Given the description of an element on the screen output the (x, y) to click on. 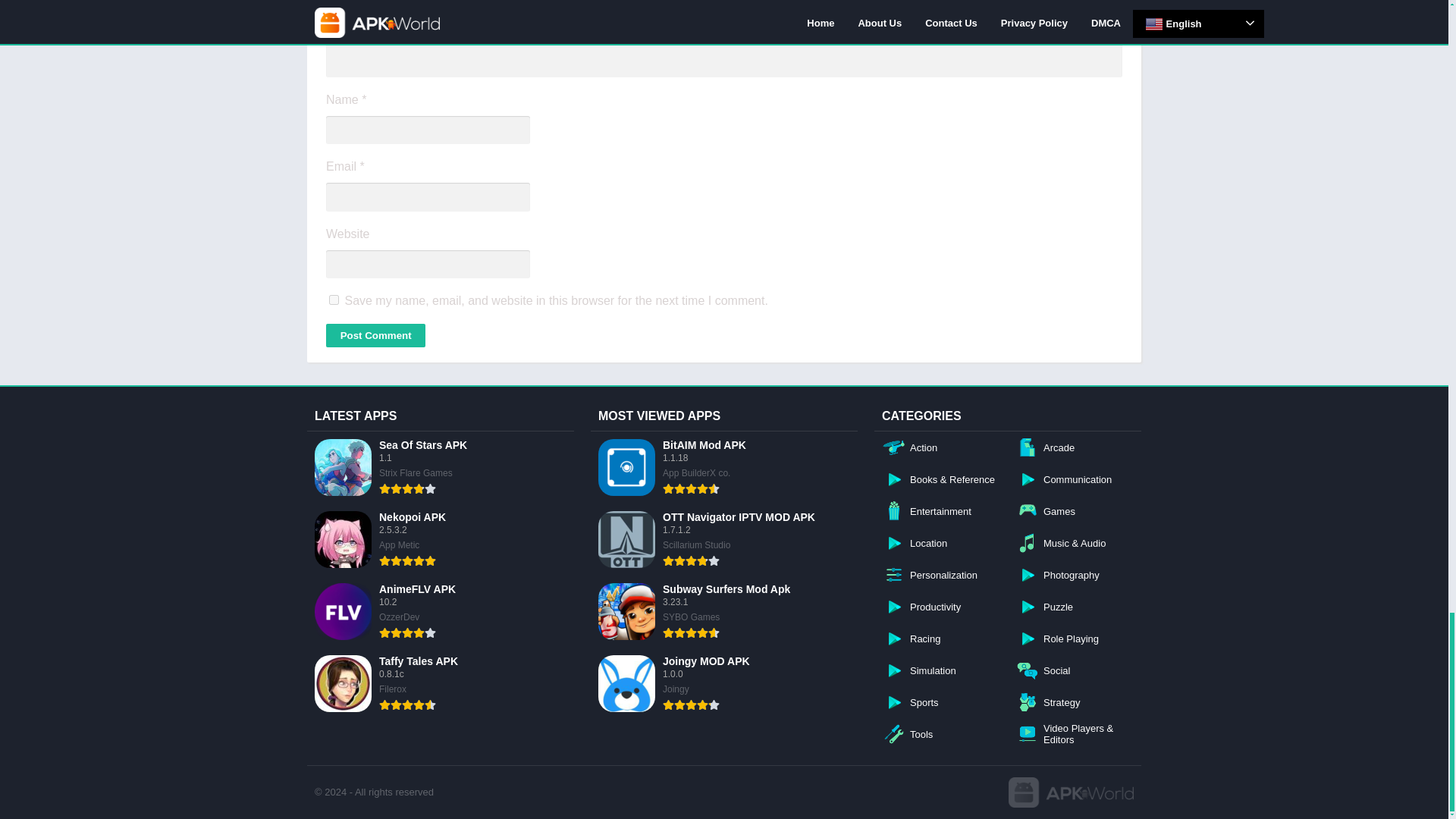
yes (334, 299)
Post Comment (375, 335)
